Given the description of an element on the screen output the (x, y) to click on. 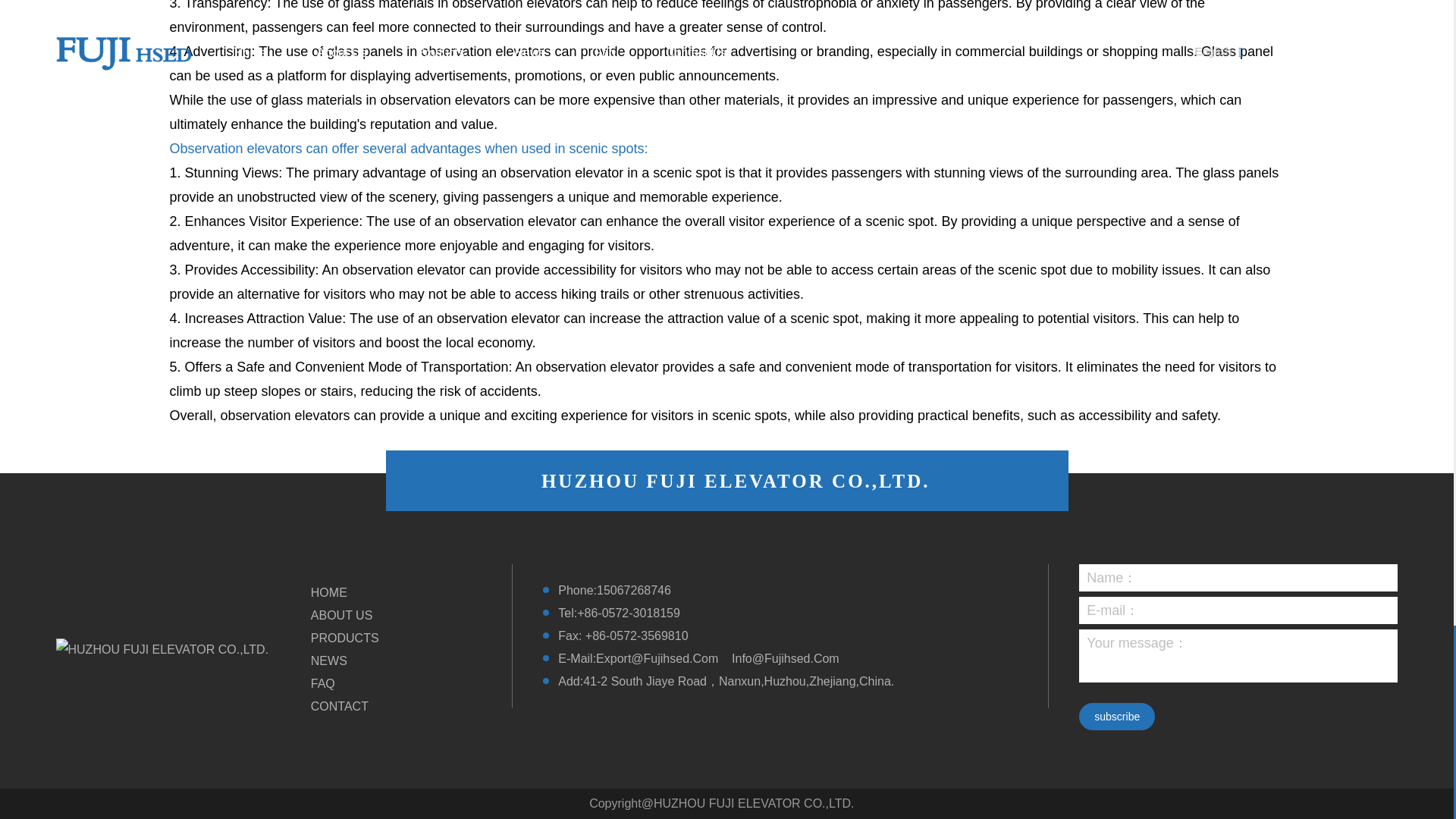
subscribe (1116, 716)
HUZHOU FUJI ELEVATOR CO.,LTD. (162, 649)
